Given the description of an element on the screen output the (x, y) to click on. 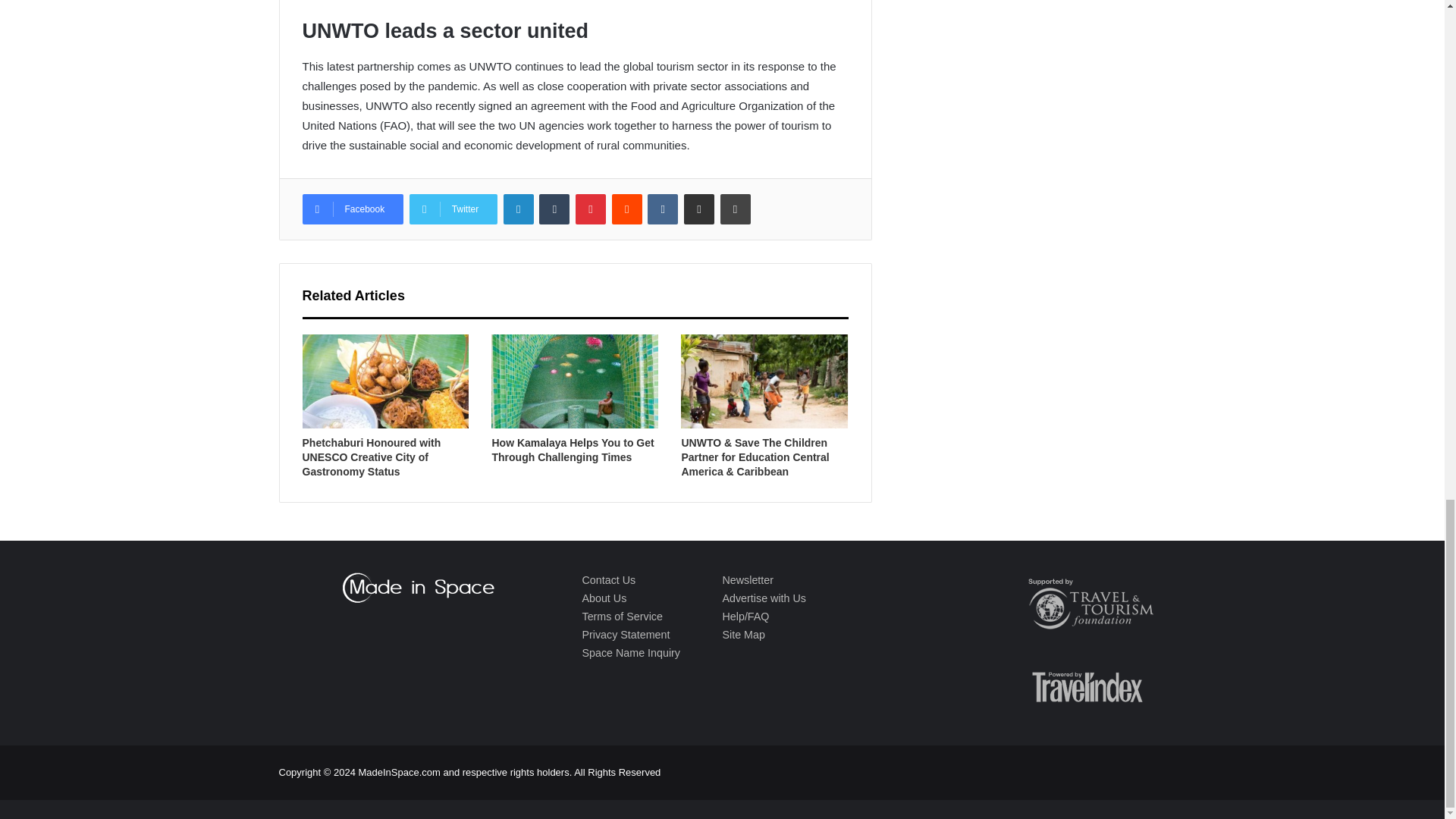
How Kamalaya Helps You to Get Through Challenging Times (572, 449)
LinkedIn (518, 209)
Twitter (453, 209)
Facebook (352, 209)
Reddit (626, 209)
Tumblr (553, 209)
Share via Email (699, 209)
Pinterest (590, 209)
Terms of Service (621, 616)
